Given the description of an element on the screen output the (x, y) to click on. 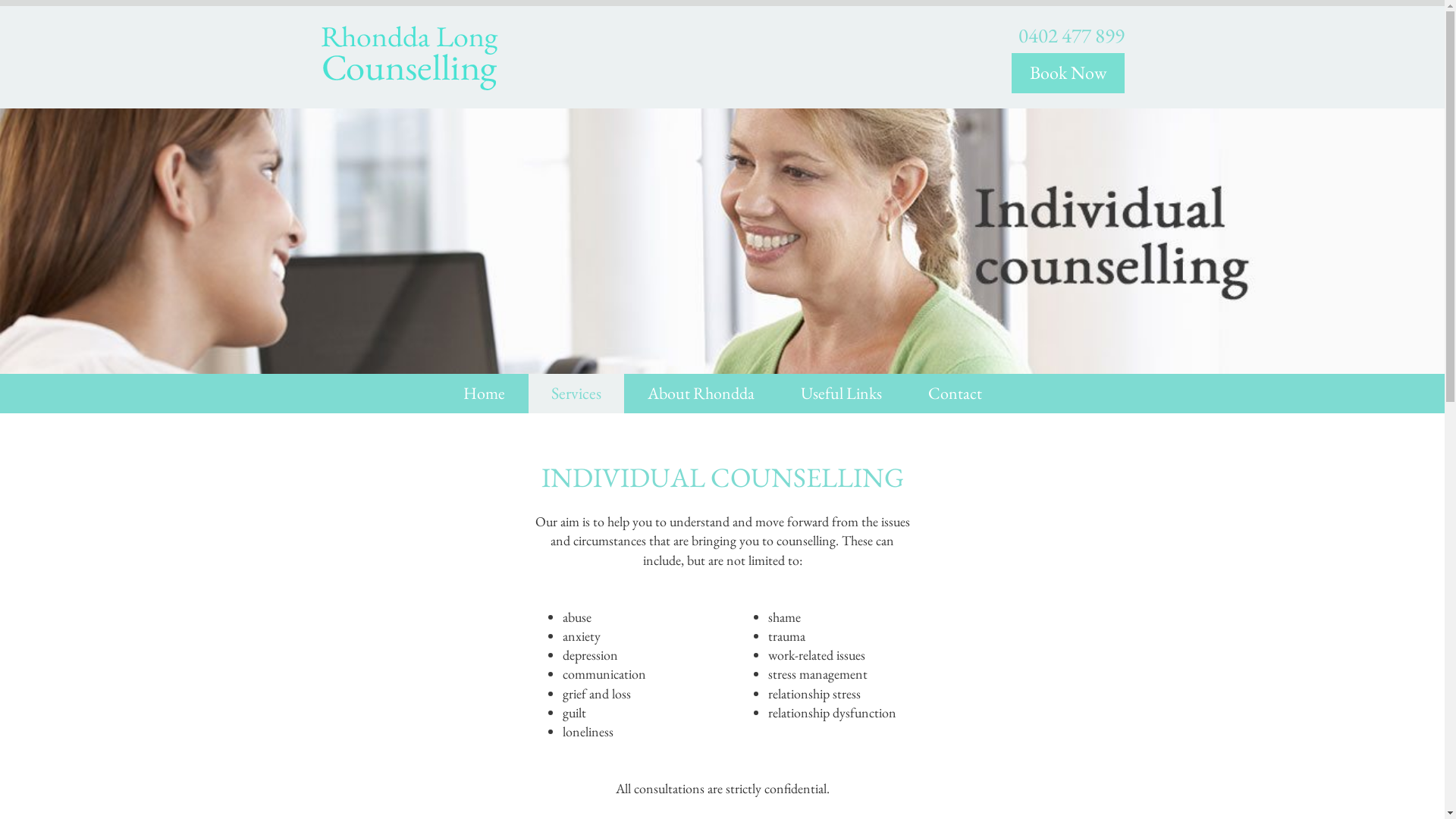
Home Element type: text (483, 393)
Contact Element type: text (954, 393)
Services Element type: text (575, 393)
About Rhondda Element type: text (700, 393)
Book Now Element type: text (1067, 73)
Useful Links Element type: text (841, 393)
rhondda-long-counselling Element type: hover (409, 58)
0402 477 899 Element type: text (1070, 34)
